Given the description of an element on the screen output the (x, y) to click on. 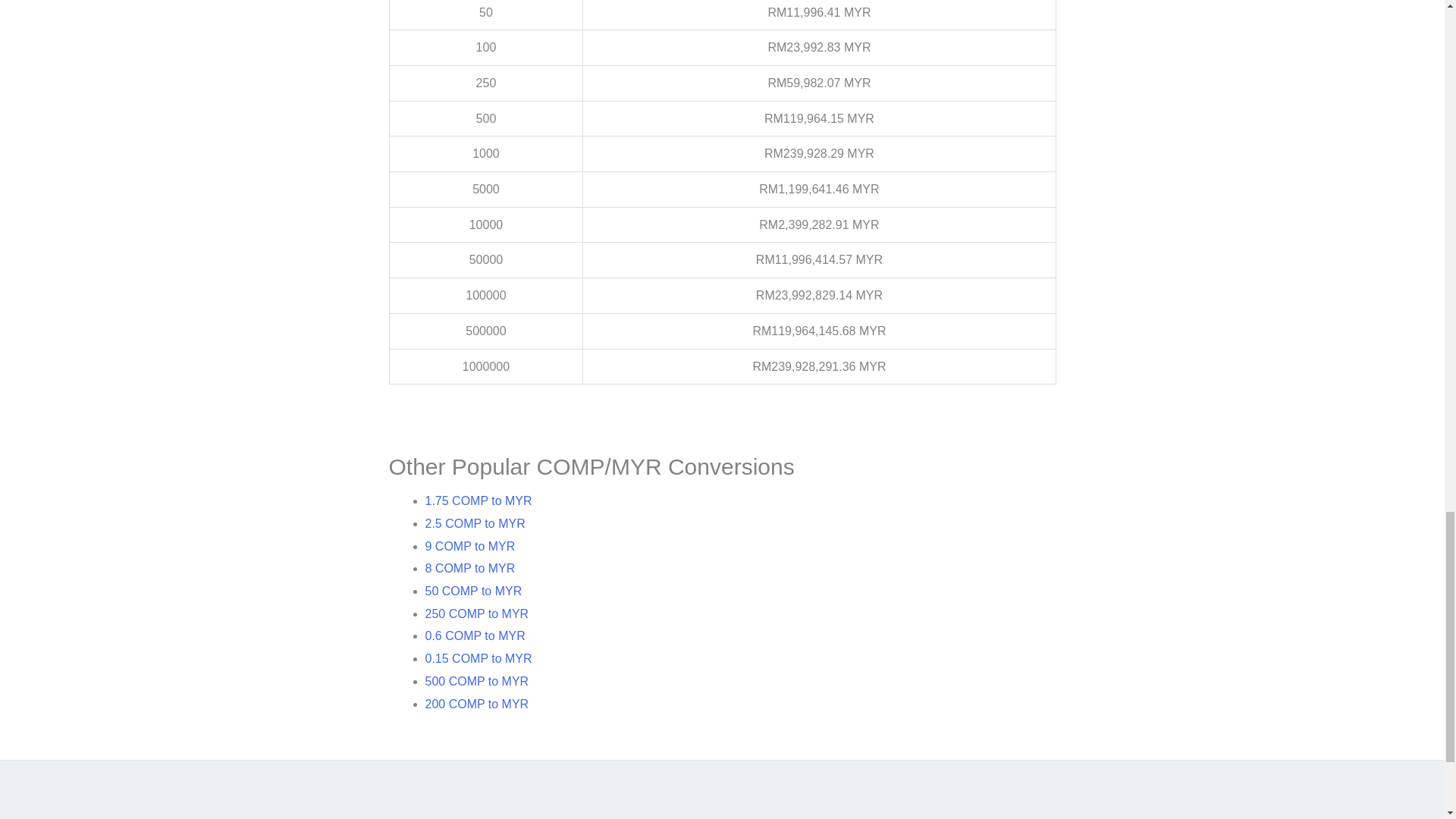
200 COMP to MYR (476, 703)
0.6 COMP to MYR (474, 635)
500 COMP to MYR (476, 680)
9 COMP to MYR (470, 545)
250 COMP to MYR (476, 613)
50 COMP to MYR (473, 590)
9 COMP to MYR (470, 545)
250 COMP to MYR (476, 613)
2.5 COMP to MYR (474, 522)
0.15 COMP to MYR (478, 658)
8 COMP to MYR (470, 567)
1.75 COMP to MYR (478, 500)
8 COMP to MYR (470, 567)
0.6 COMP to MYR (474, 635)
1.75 COMP to MYR (478, 500)
